Given the description of an element on the screen output the (x, y) to click on. 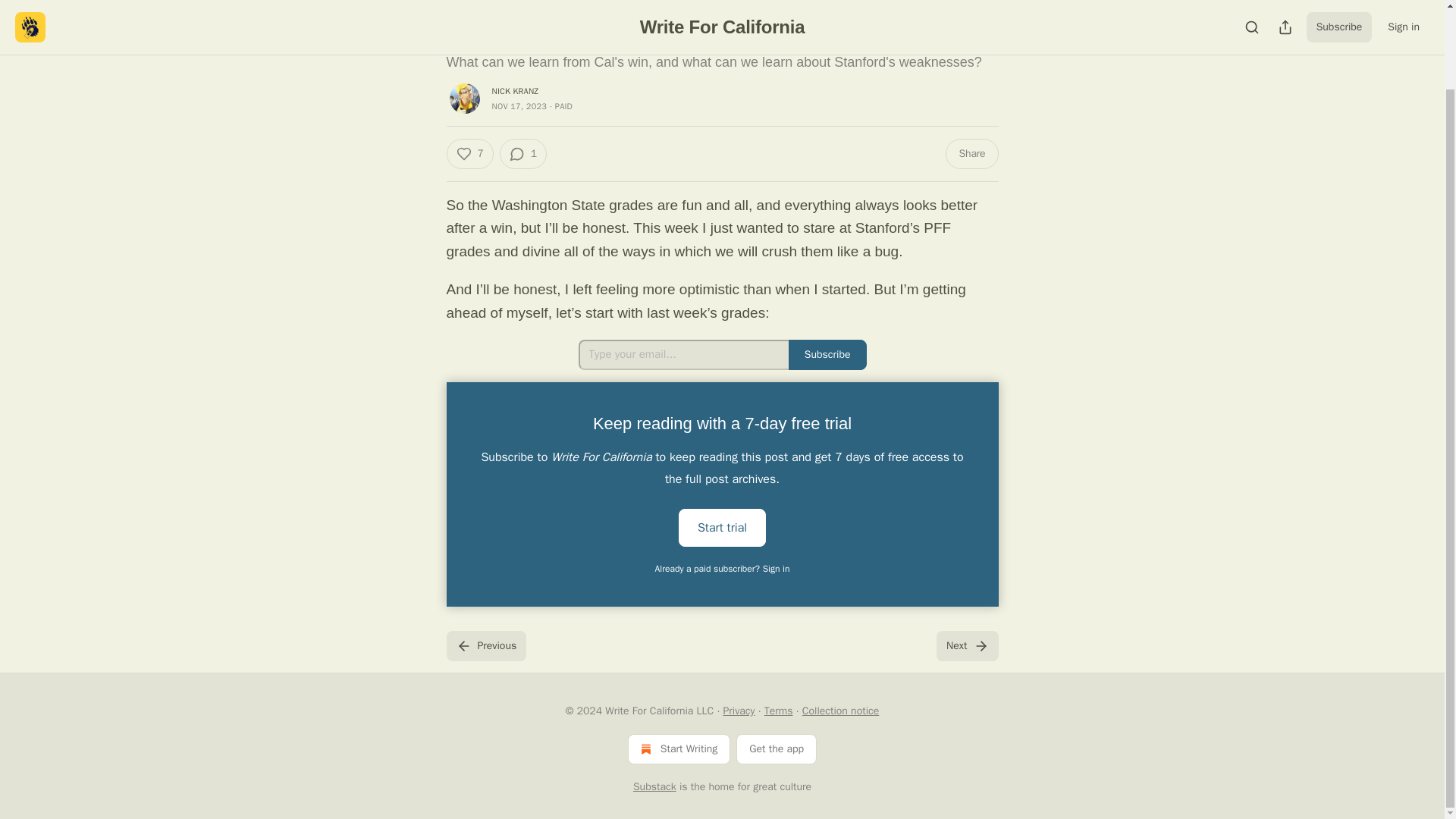
Already a paid subscriber? Sign in (722, 568)
Privacy (739, 710)
Substack (655, 786)
7 (469, 153)
NICK KRANZ (515, 90)
Terms (778, 710)
Start trial (721, 526)
Share (970, 153)
Start Writing (678, 748)
Start trial (721, 527)
